Given the description of an element on the screen output the (x, y) to click on. 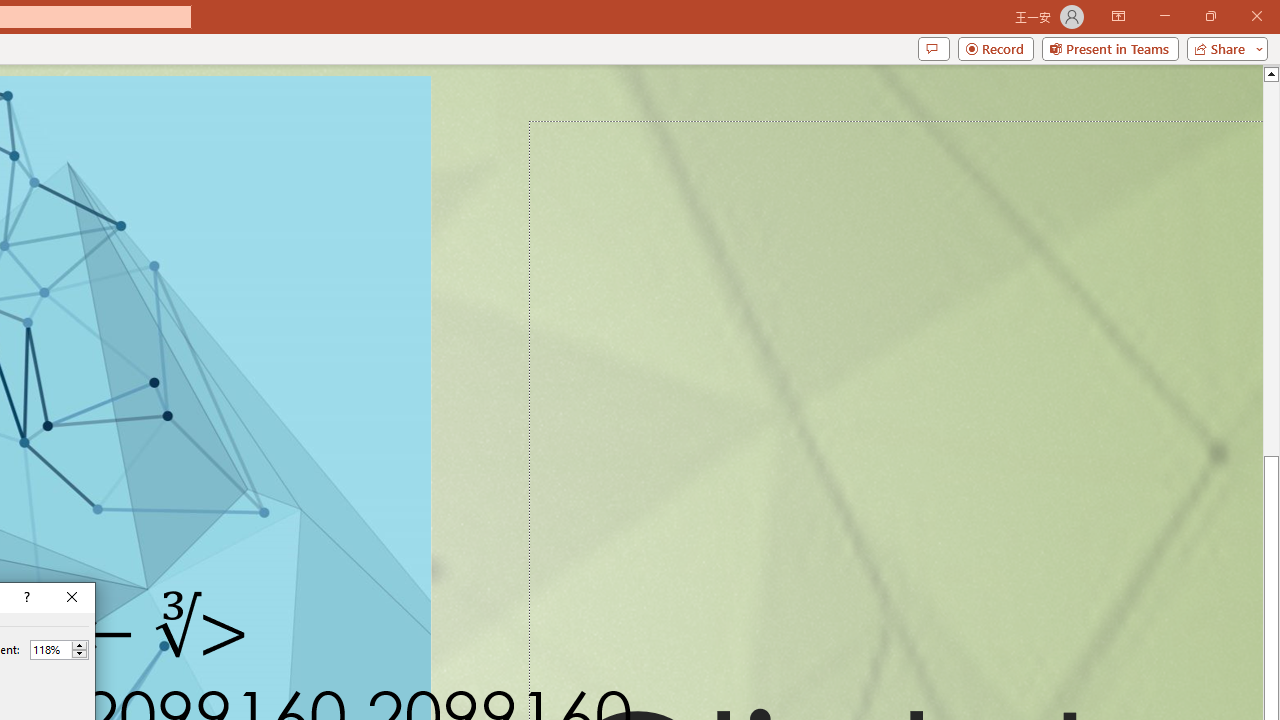
Percent (50, 649)
Percent (59, 650)
Context help (25, 597)
